Given the description of an element on the screen output the (x, y) to click on. 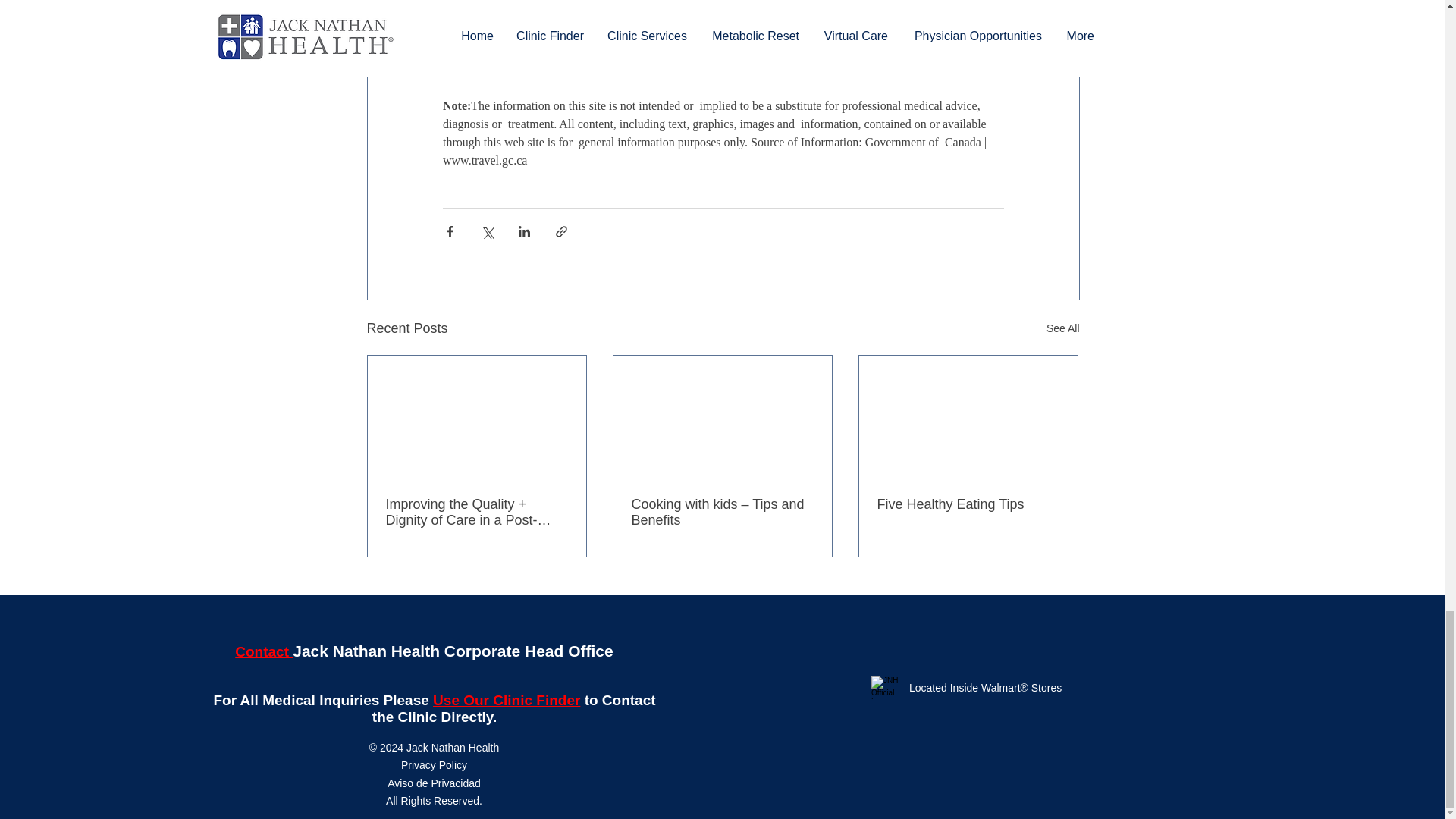
See All (1063, 328)
Five Healthy Eating Tips (967, 504)
